Given the description of an element on the screen output the (x, y) to click on. 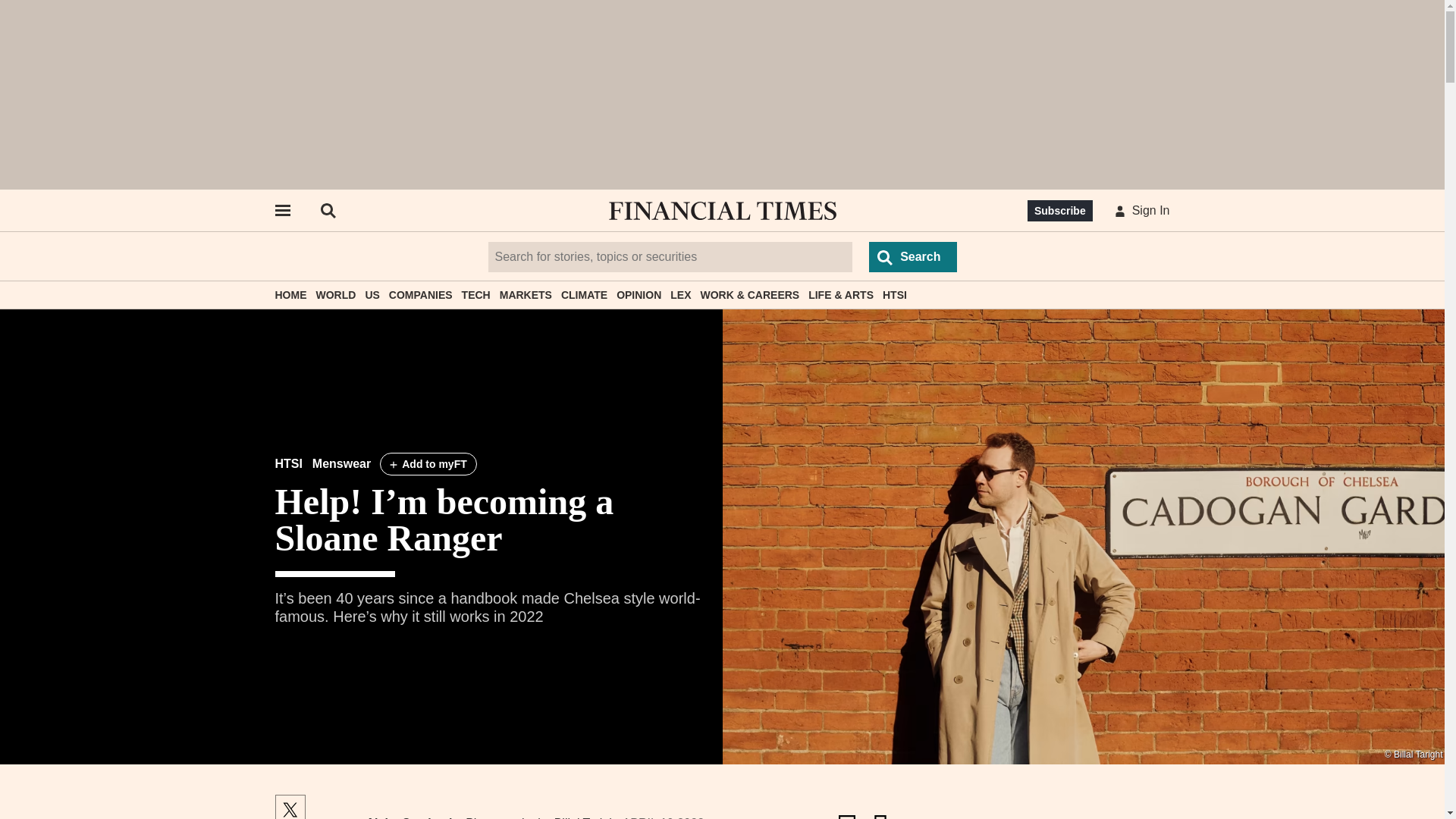
Sign In (1139, 210)
Financial Times (721, 210)
OPEN SEARCH BAR (327, 210)
April 19 2022 11:55 am (663, 817)
WORLD (335, 294)
Open search bar (327, 210)
OPEN SIDE NAVIGATION MENU (281, 210)
Financial Times (721, 210)
Search (912, 256)
Open side navigation menu (281, 210)
HOME (290, 294)
Add Menswear to myFT (428, 463)
Go to Financial Times homepage (721, 210)
Print this page (879, 812)
Jump to comments section (846, 812)
